Given the description of an element on the screen output the (x, y) to click on. 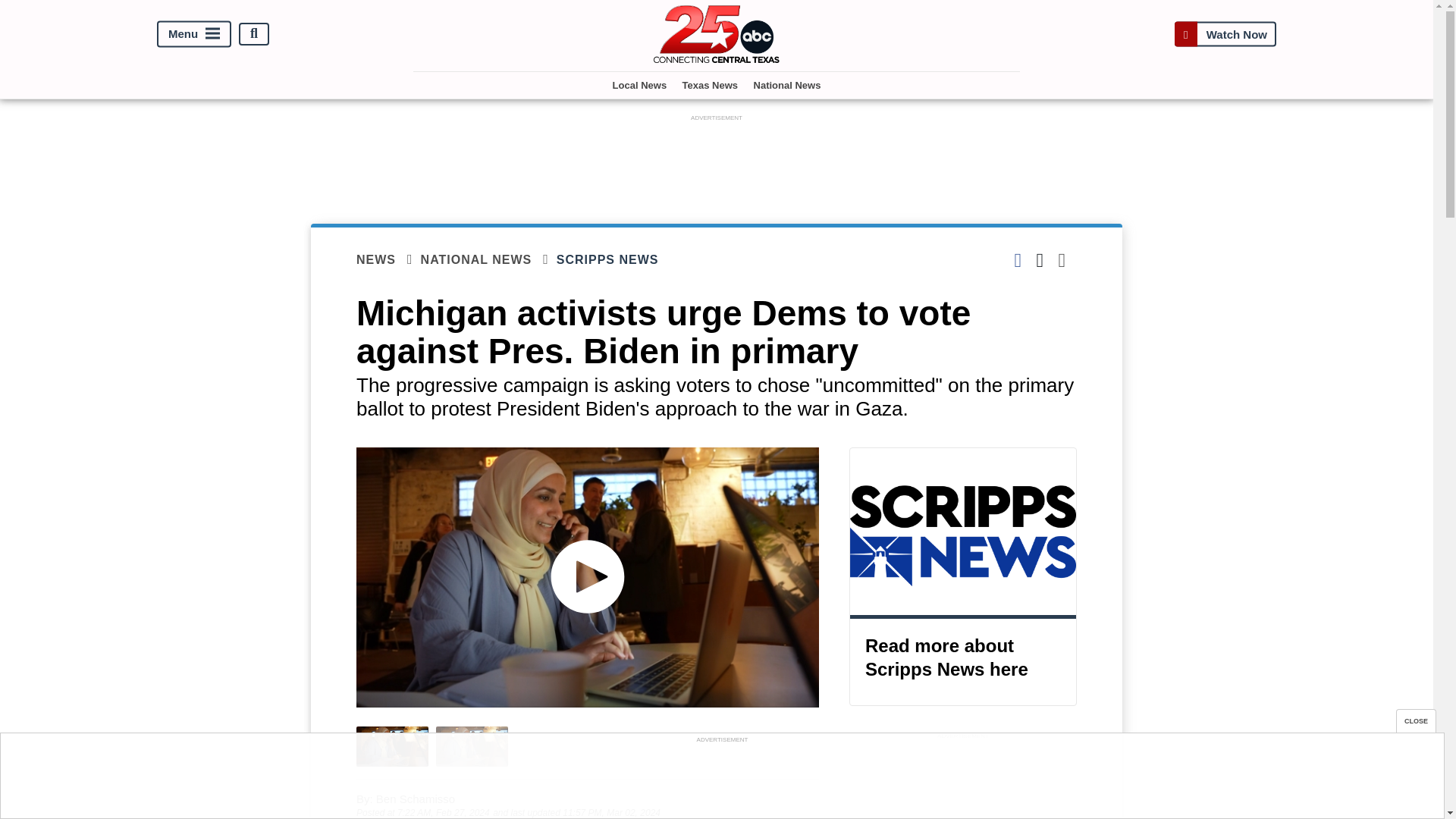
Watch Now (1224, 33)
3rd party ad content (721, 780)
Menu (194, 33)
3rd party ad content (962, 780)
3rd party ad content (716, 159)
